Given the description of an element on the screen output the (x, y) to click on. 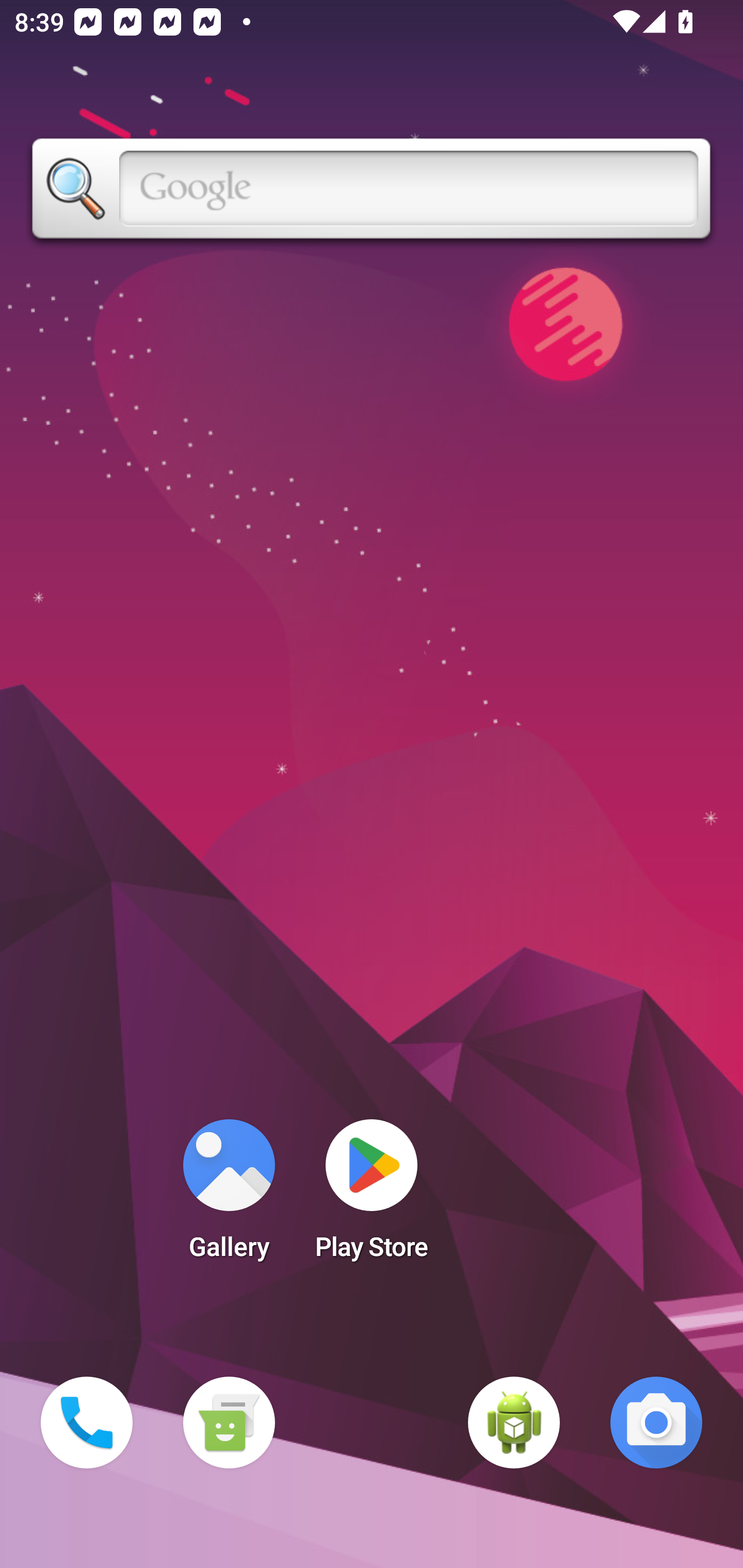
Gallery (228, 1195)
Play Store (371, 1195)
Phone (86, 1422)
Messaging (228, 1422)
WebView Browser Tester (513, 1422)
Camera (656, 1422)
